Given the description of an element on the screen output the (x, y) to click on. 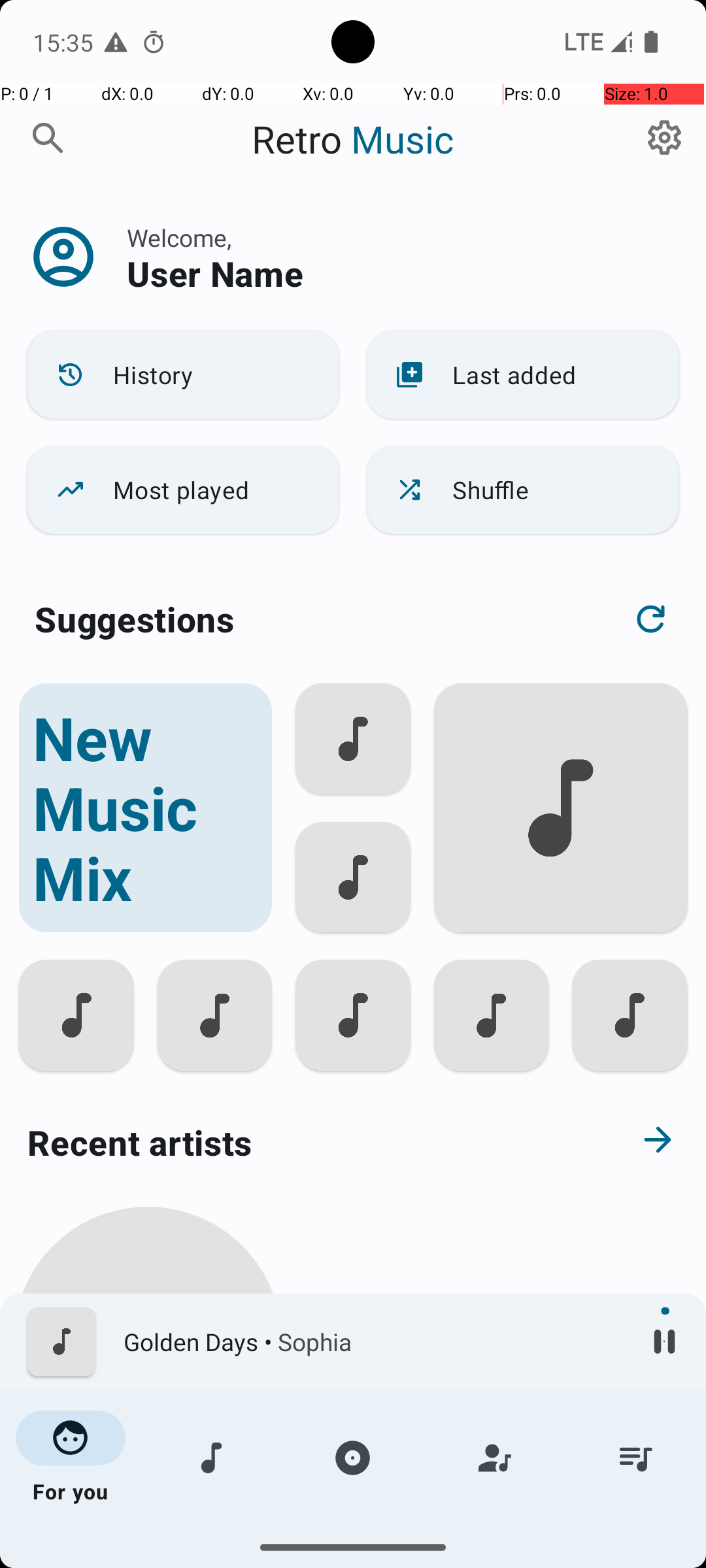
Golden Days • Sophia Element type: android.widget.TextView (372, 1341)
Henry Element type: android.widget.TextView (147, 1503)
